Given the description of an element on the screen output the (x, y) to click on. 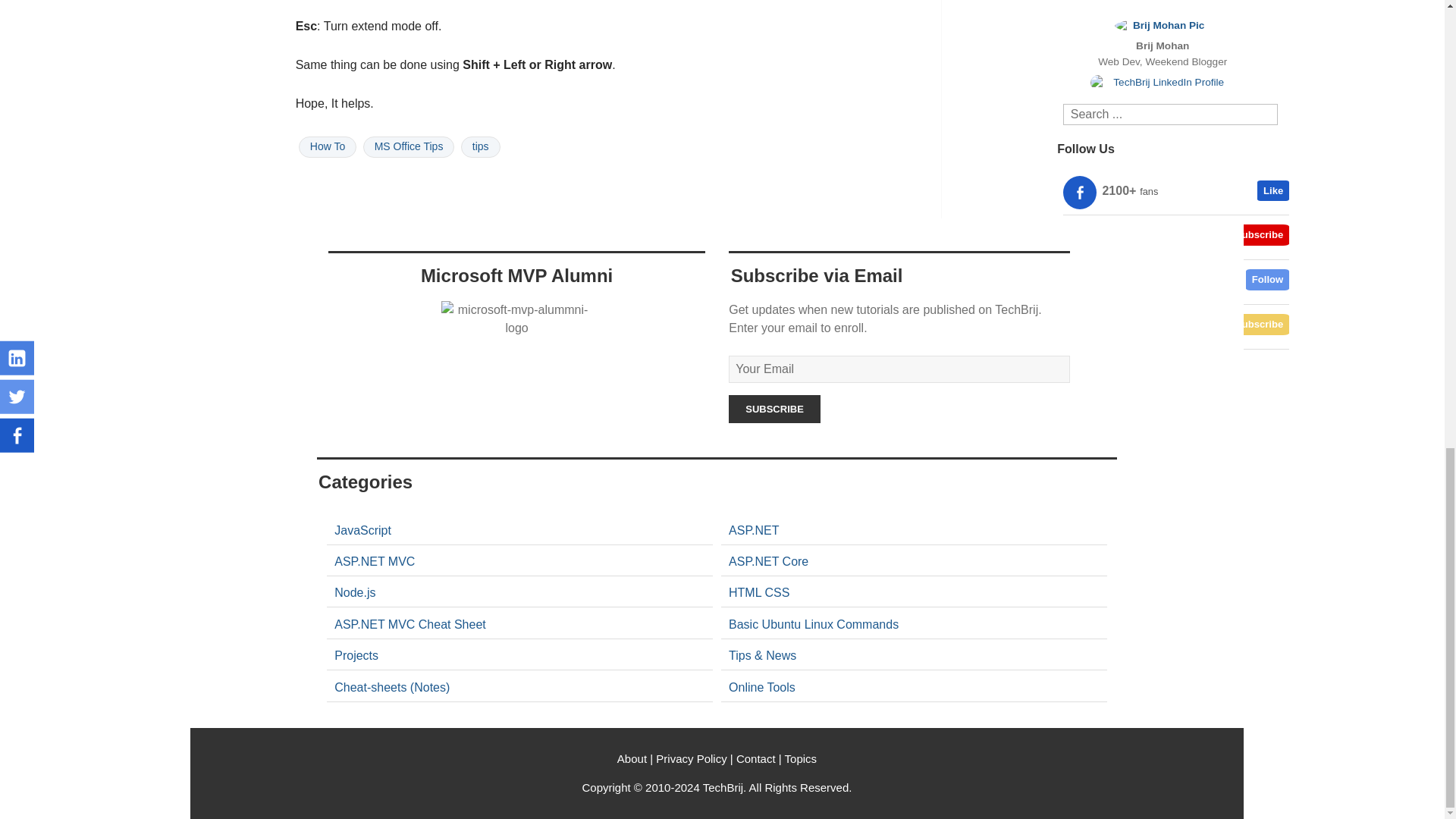
ASP.NET MVC (374, 561)
Notes (391, 686)
JavaScript (362, 530)
Online Tools (761, 686)
Online Tools (356, 655)
Contact (756, 758)
MS Office Tips (408, 147)
How To (327, 147)
ASP.NET (753, 530)
Topics (800, 758)
